Given the description of an element on the screen output the (x, y) to click on. 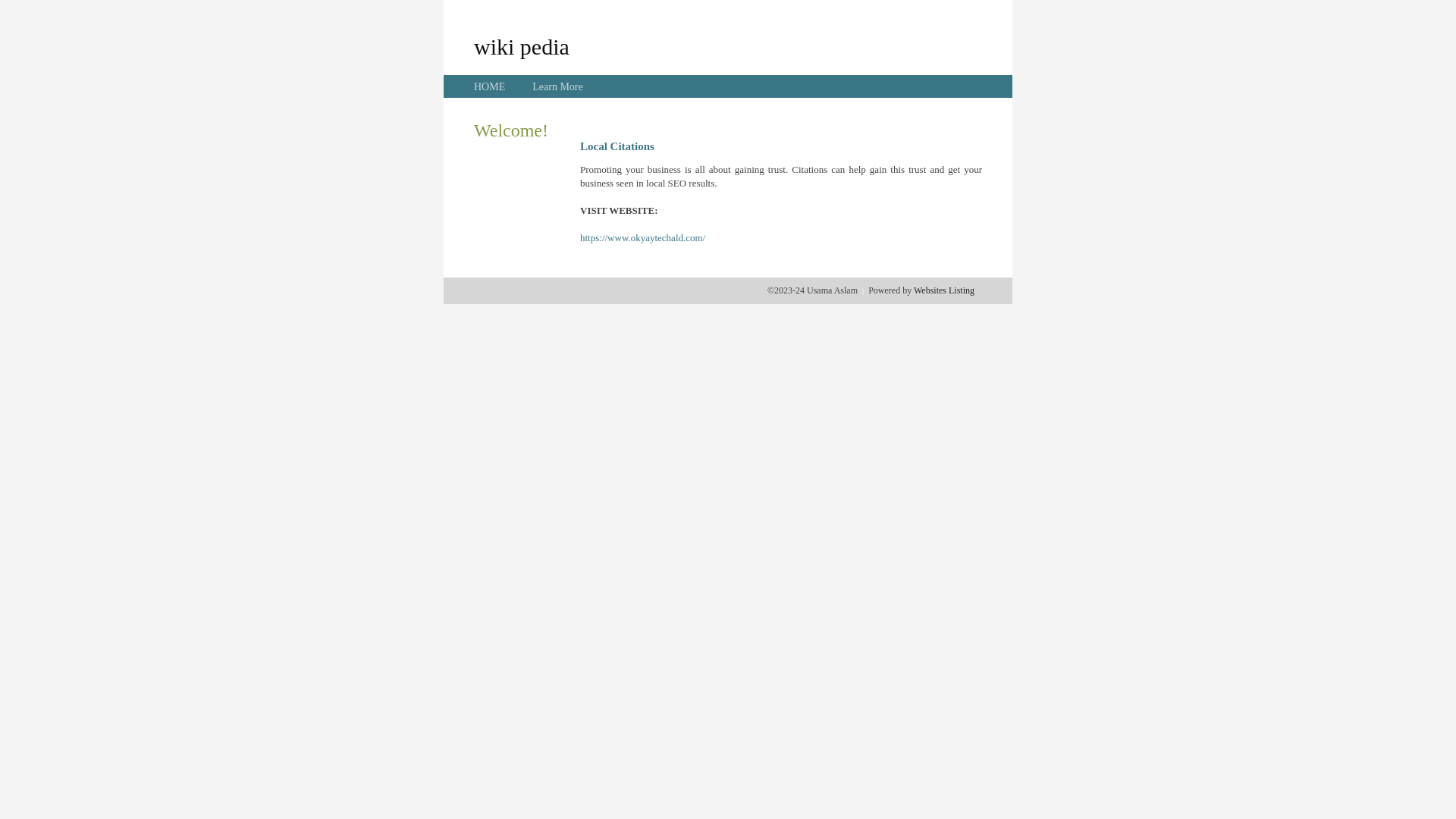
https://www.okyaytechald.com/ Element type: text (642, 237)
Websites Listing Element type: text (943, 290)
HOME Element type: text (489, 86)
wiki pedia Element type: text (521, 46)
Learn More Element type: text (557, 86)
